Given the description of an element on the screen output the (x, y) to click on. 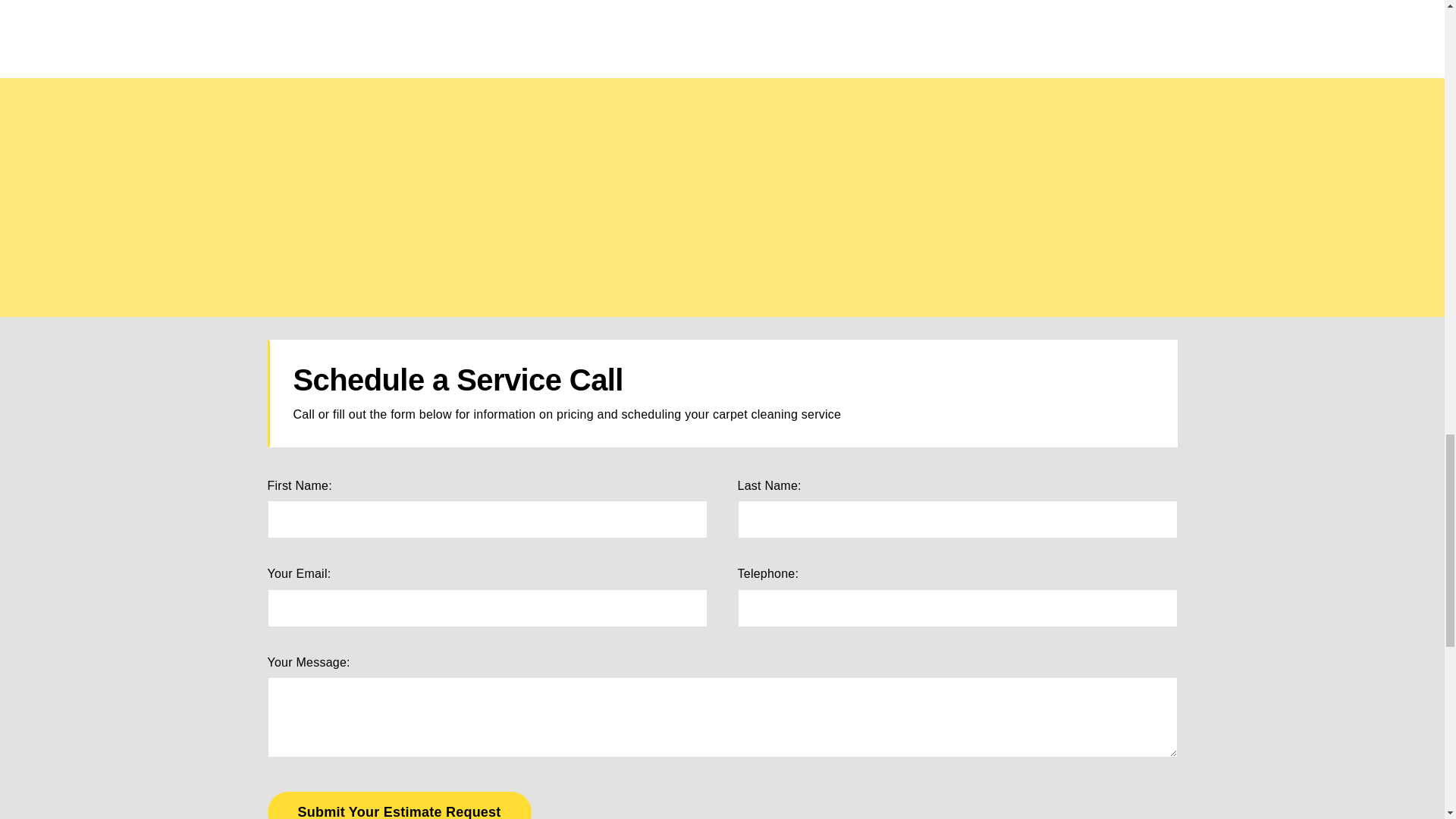
Submit Your Estimate Request (398, 805)
